Given the description of an element on the screen output the (x, y) to click on. 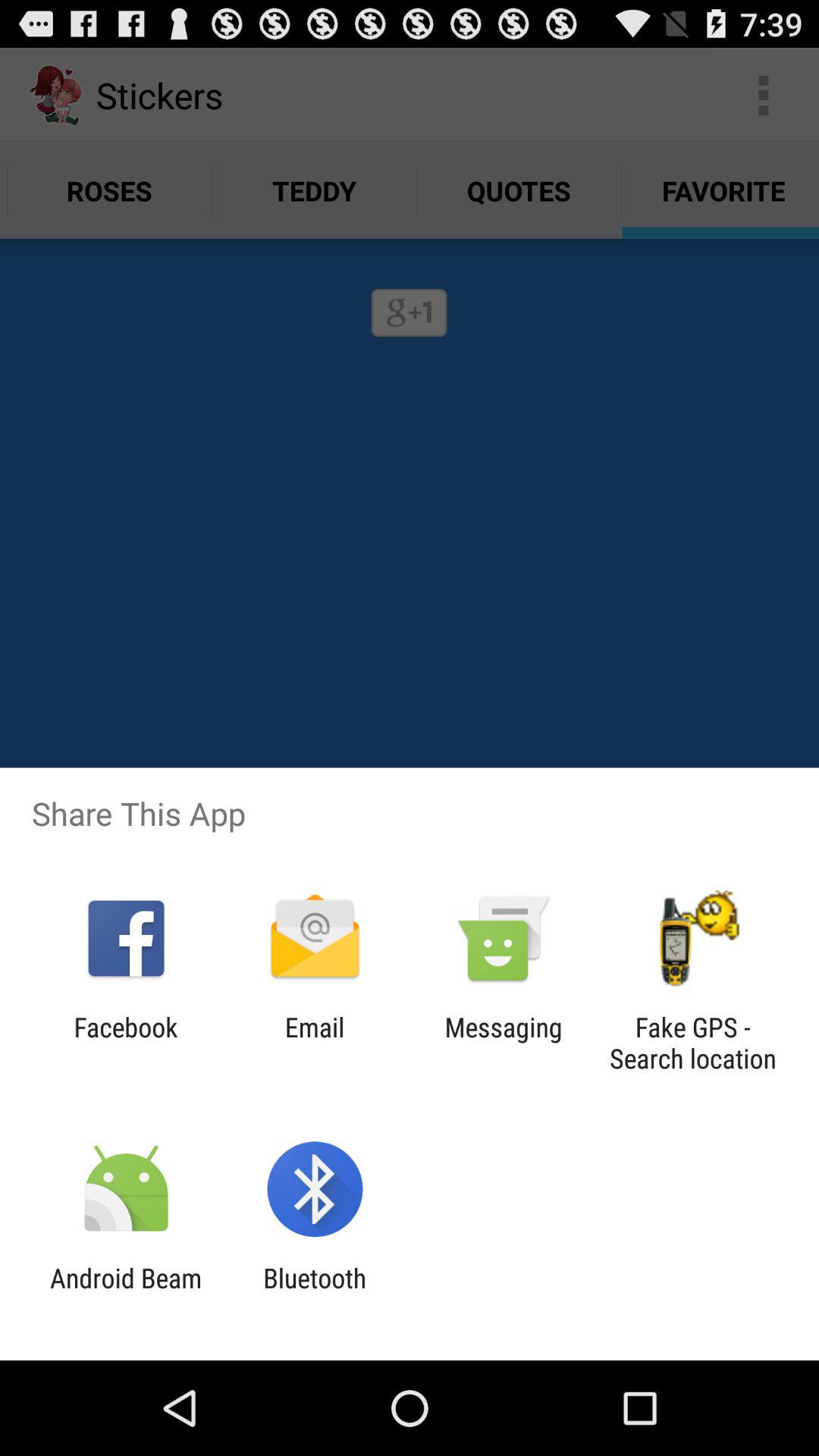
launch app to the left of the messaging icon (314, 1042)
